Given the description of an element on the screen output the (x, y) to click on. 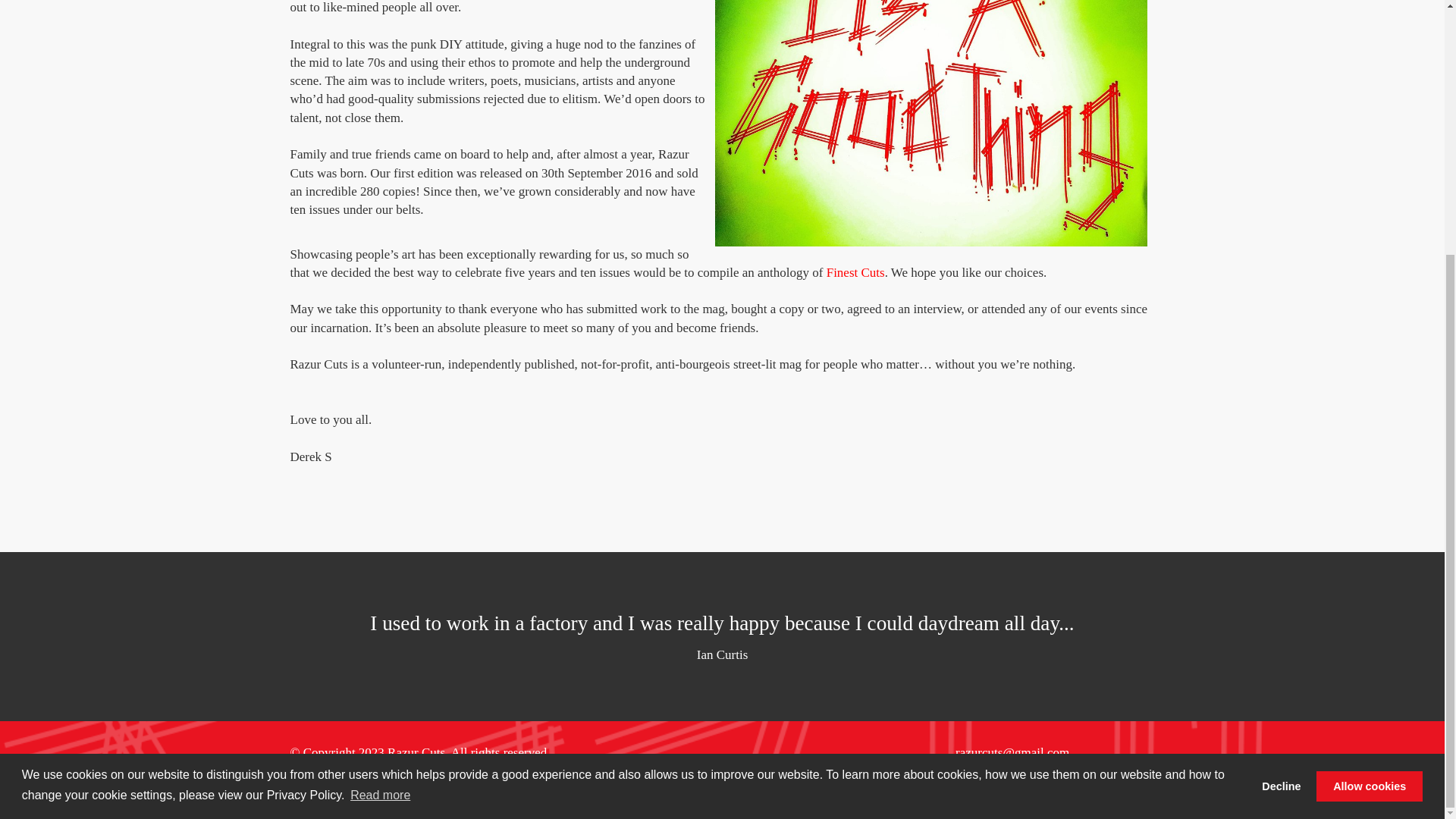
Read more (380, 434)
Decline (1281, 425)
Finest Cuts (856, 272)
Privacy Policy (327, 778)
Allow cookies (1369, 425)
